Given the description of an element on the screen output the (x, y) to click on. 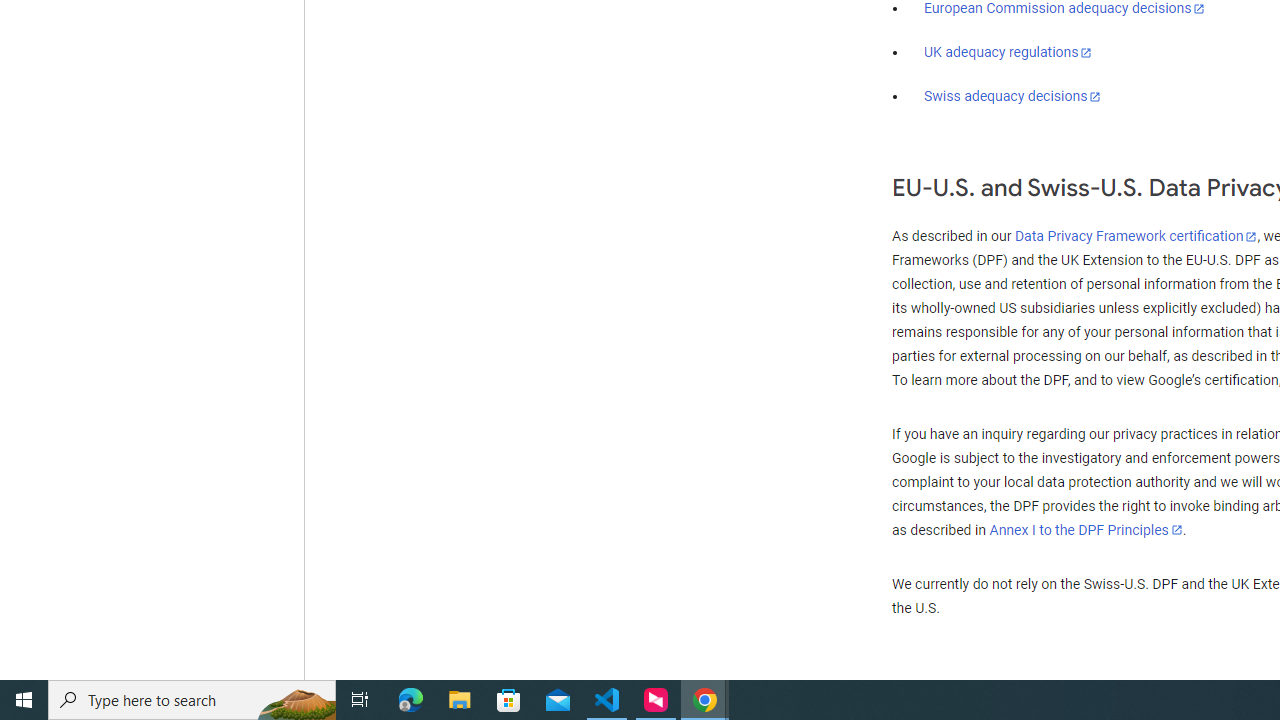
UK adequacy regulations (1008, 52)
European Commission adequacy decisions (1064, 9)
Swiss adequacy decisions (1013, 96)
Annex I to the DPF Principles (1085, 530)
Data Privacy Framework certification (1135, 237)
